Given the description of an element on the screen output the (x, y) to click on. 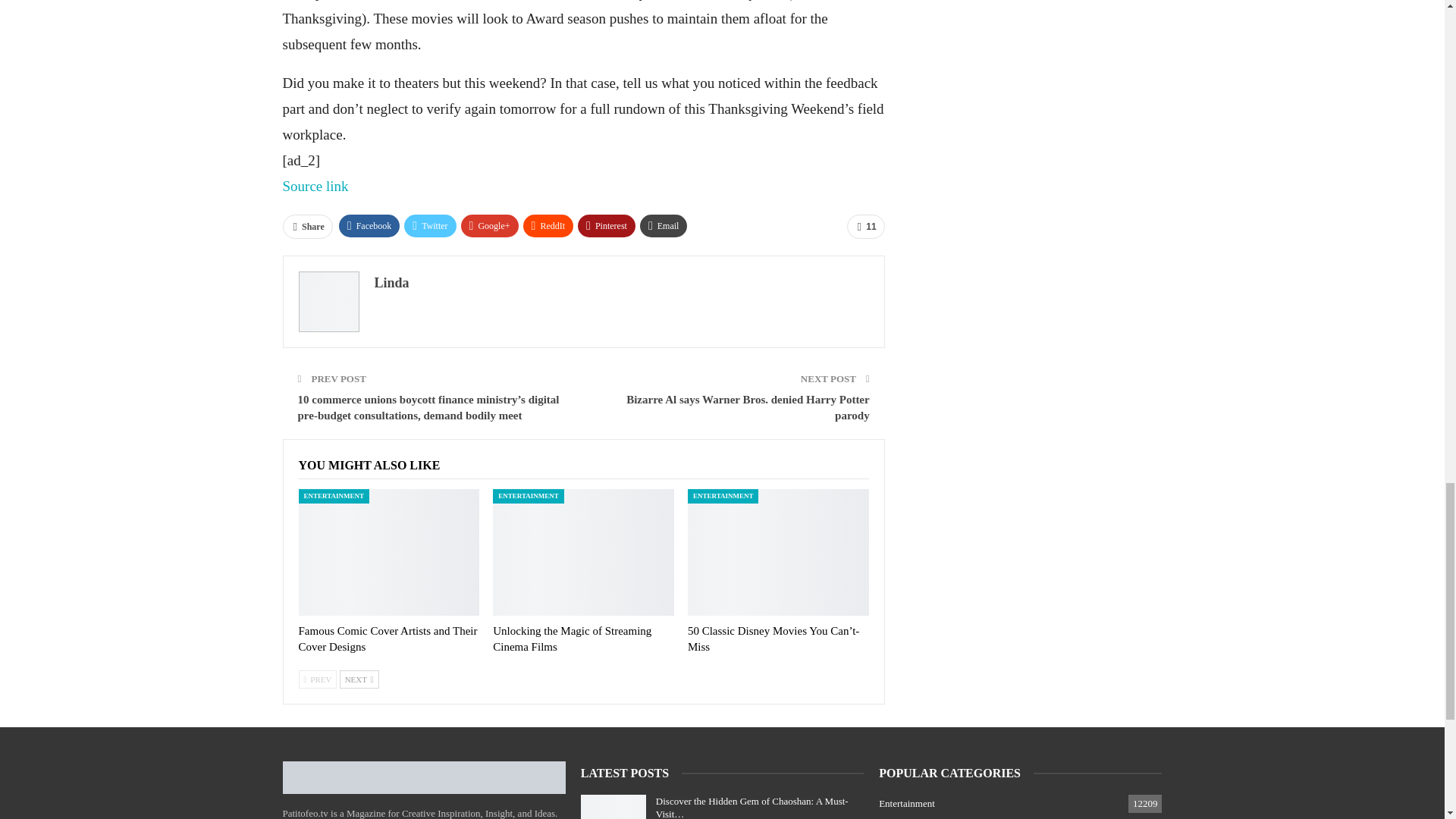
Previous (317, 679)
Unlocking the Magic of Streaming Cinema Films (571, 638)
Famous Comic Cover Artists and Their Cover Designs (387, 638)
Famous Comic Cover Artists and Their Cover Designs (389, 551)
Unlocking the Magic of Streaming Cinema Films (583, 551)
Next (358, 679)
